Given the description of an element on the screen output the (x, y) to click on. 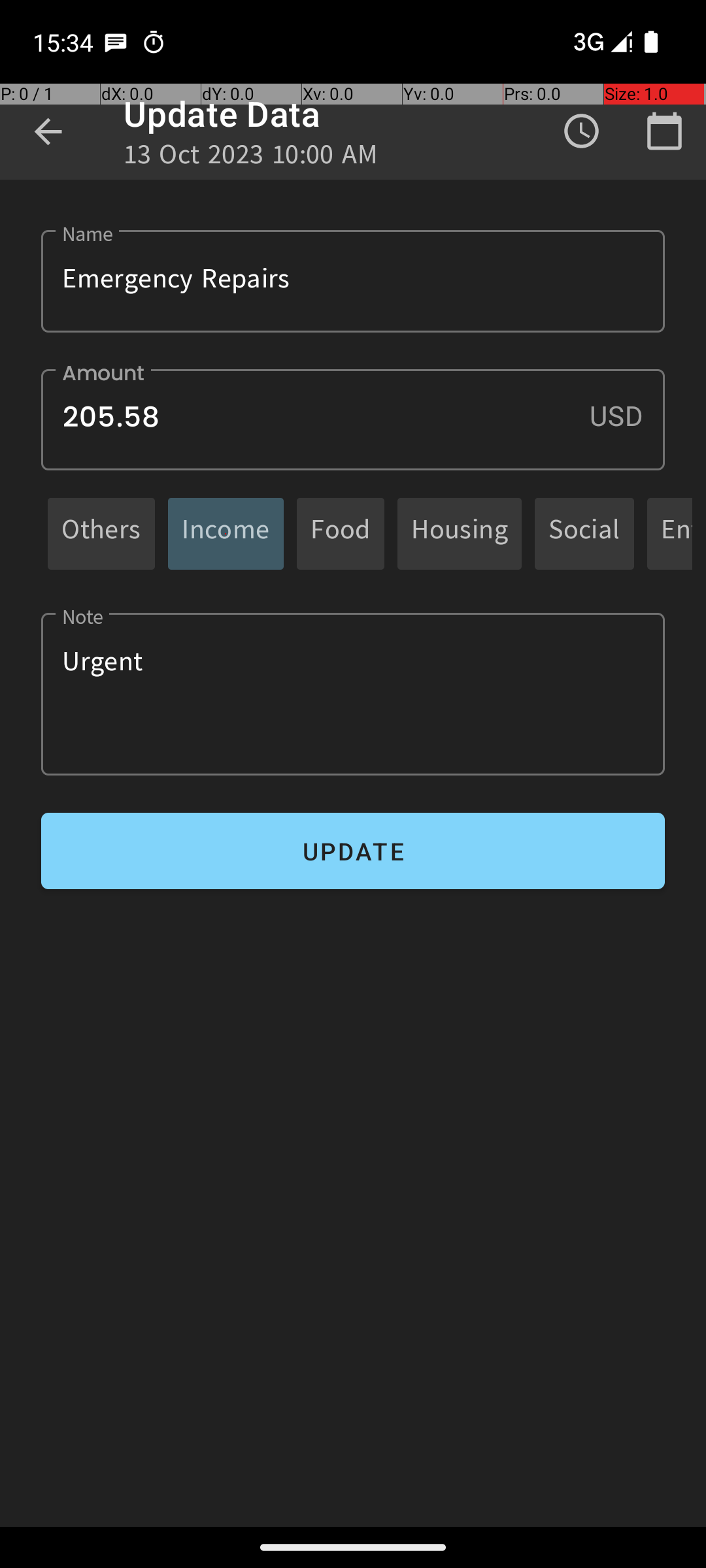
13 Oct 2023 10:00 AM Element type: android.widget.TextView (250, 157)
Emergency Repairs Element type: android.widget.EditText (352, 280)
205.58 Element type: android.widget.EditText (352, 419)
Others Element type: android.widget.TextView (101, 533)
